Given the description of an element on the screen output the (x, y) to click on. 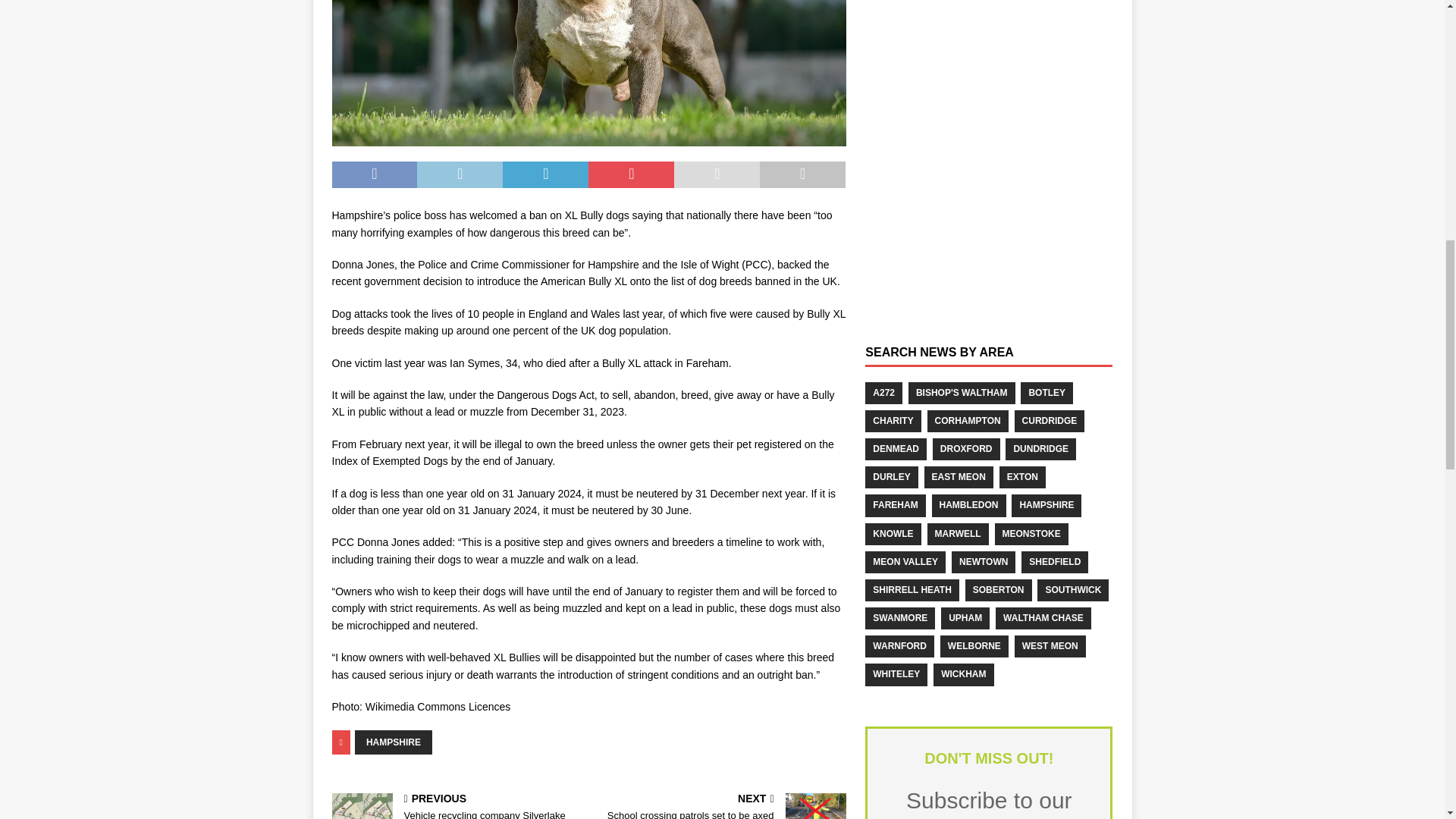
XL Bully (588, 73)
